Given the description of an element on the screen output the (x, y) to click on. 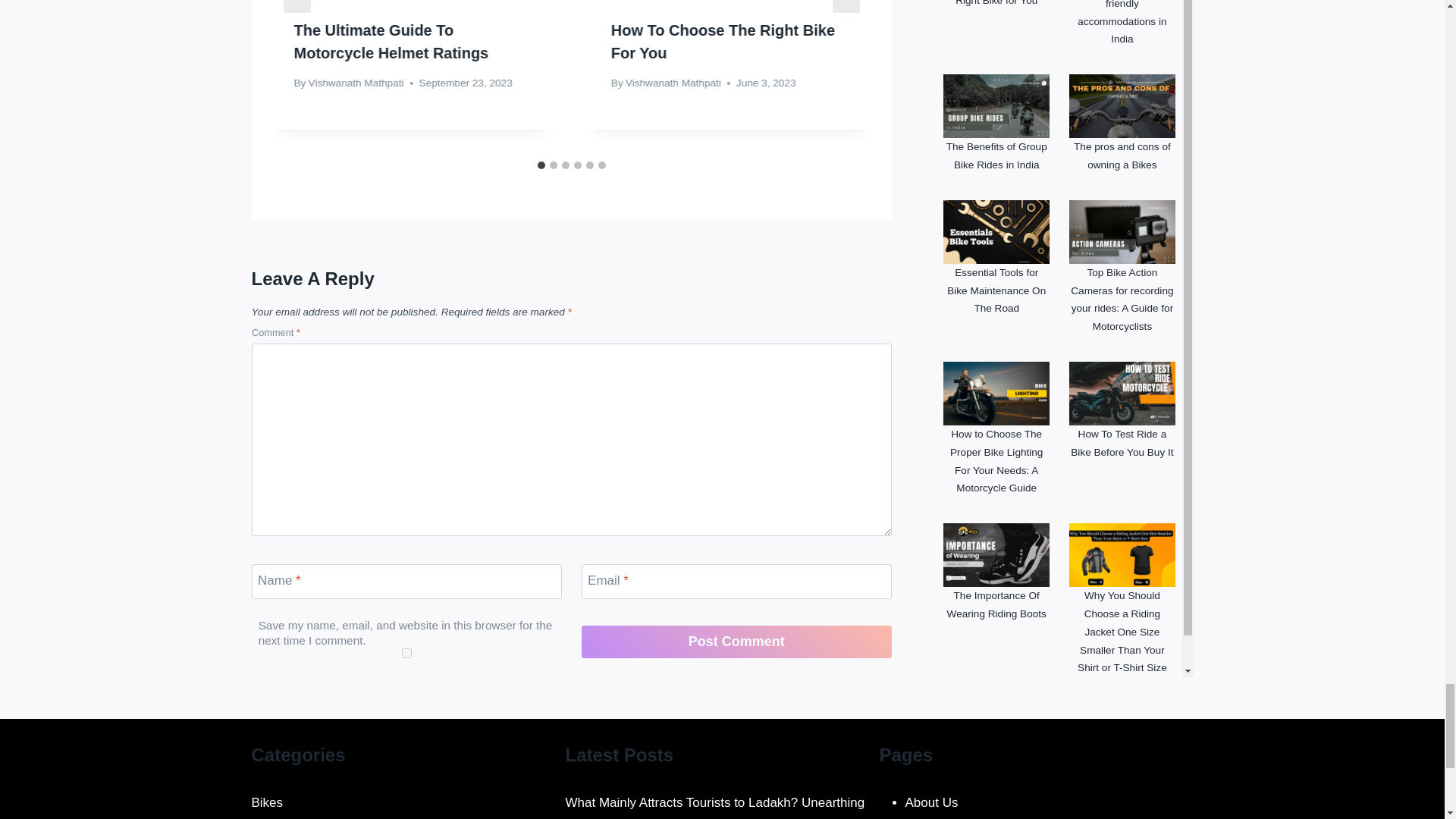
yes (406, 653)
Post Comment (736, 641)
